Given the description of an element on the screen output the (x, y) to click on. 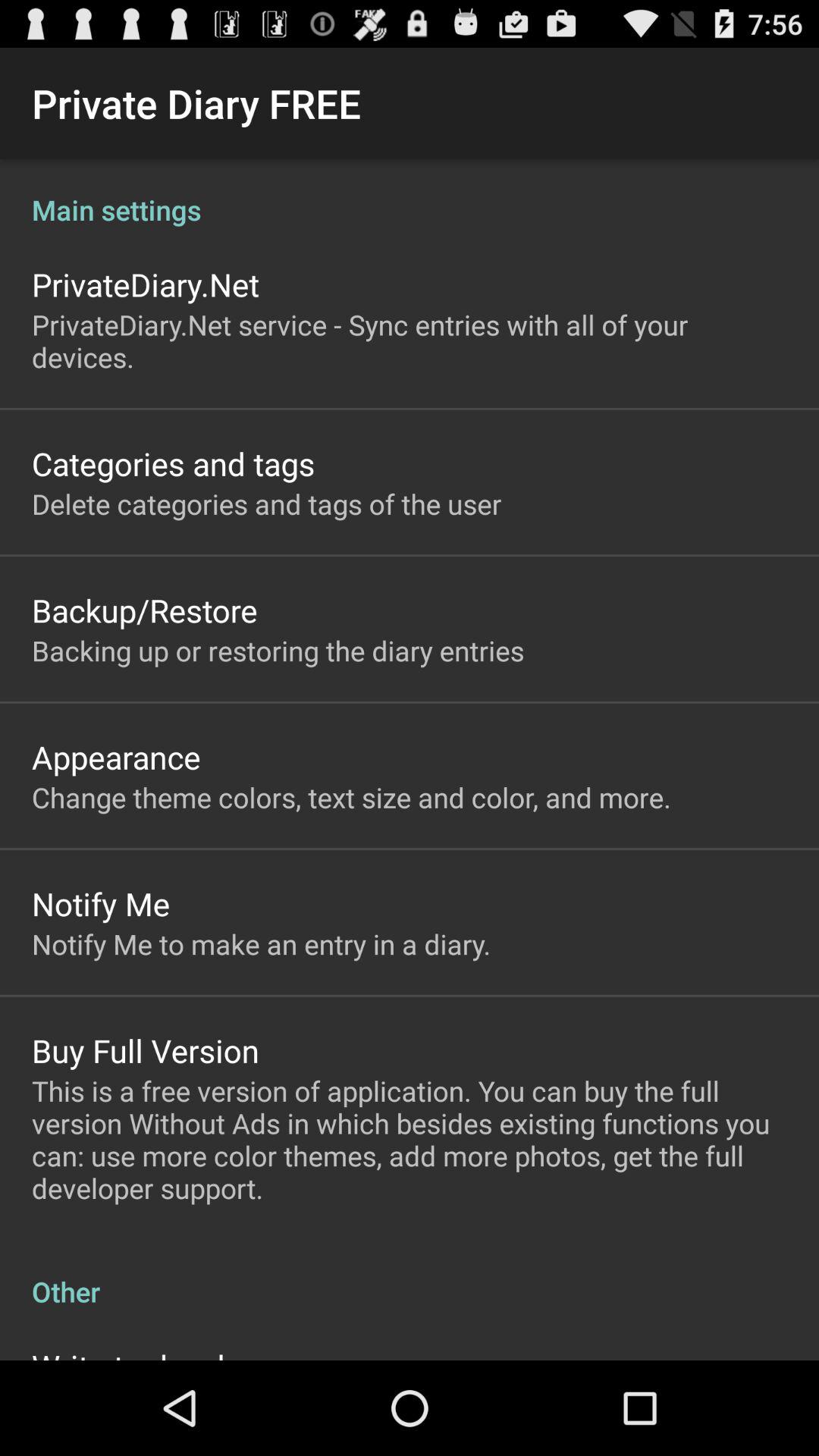
tap backing up or icon (277, 650)
